Given the description of an element on the screen output the (x, y) to click on. 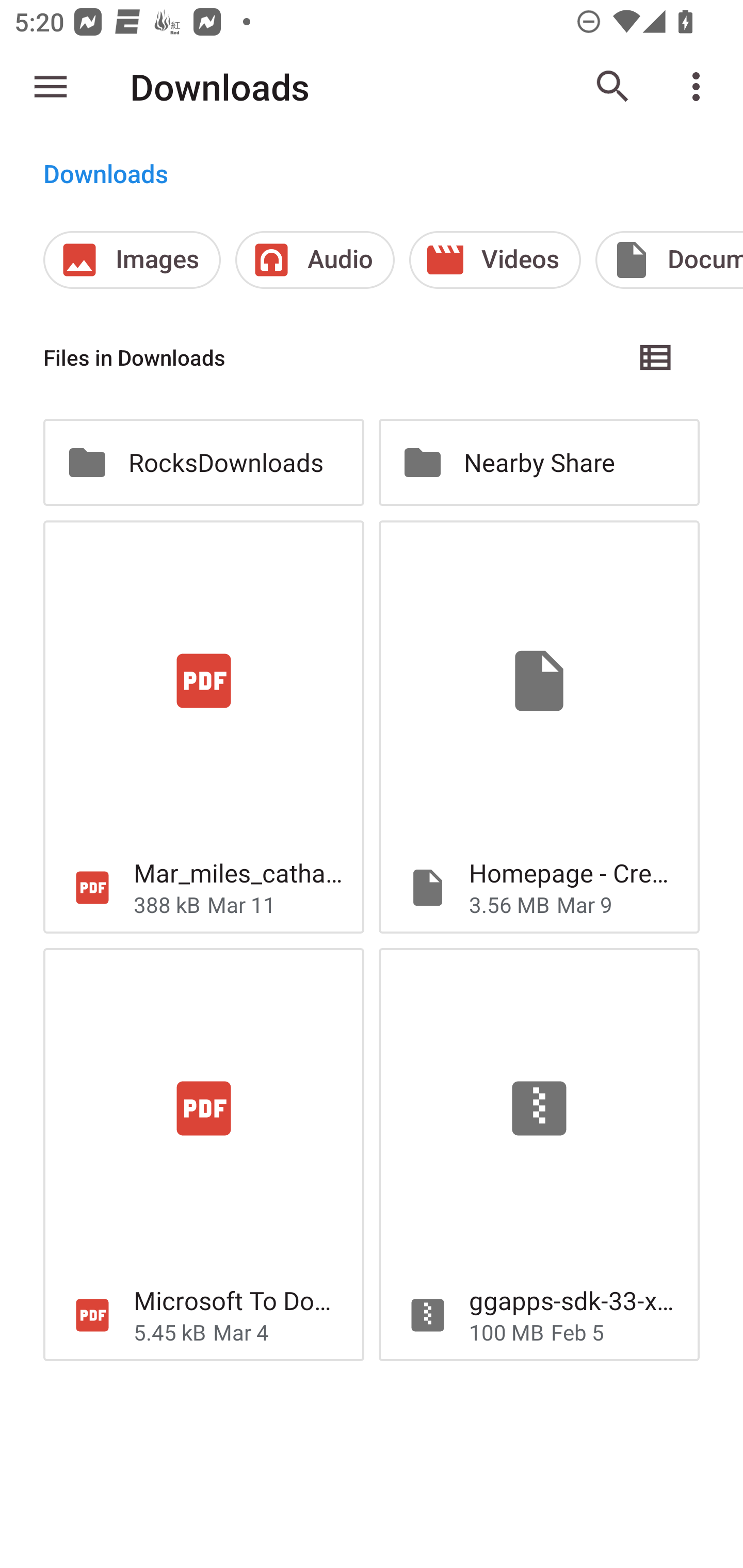
Show roots (50, 86)
Search (612, 86)
More options (699, 86)
Images (131, 259)
Audio (314, 259)
Videos (495, 259)
Documents (669, 259)
List view (655, 357)
RocksDownloads (203, 462)
Nearby Share (538, 462)
Mar_miles_cathaycredits_TnCs.pdf 388 kB Mar 11 (203, 726)
Homepage - Creative Commons 3.56 MB Mar 9 (538, 726)
Microsoft To DoFlight Booking.pdf 5.45 kB Mar 4 (203, 1154)
ggapps-sdk-33-x86_64-20231003.zip 100 MB Feb 5 (538, 1154)
